Given the description of an element on the screen output the (x, y) to click on. 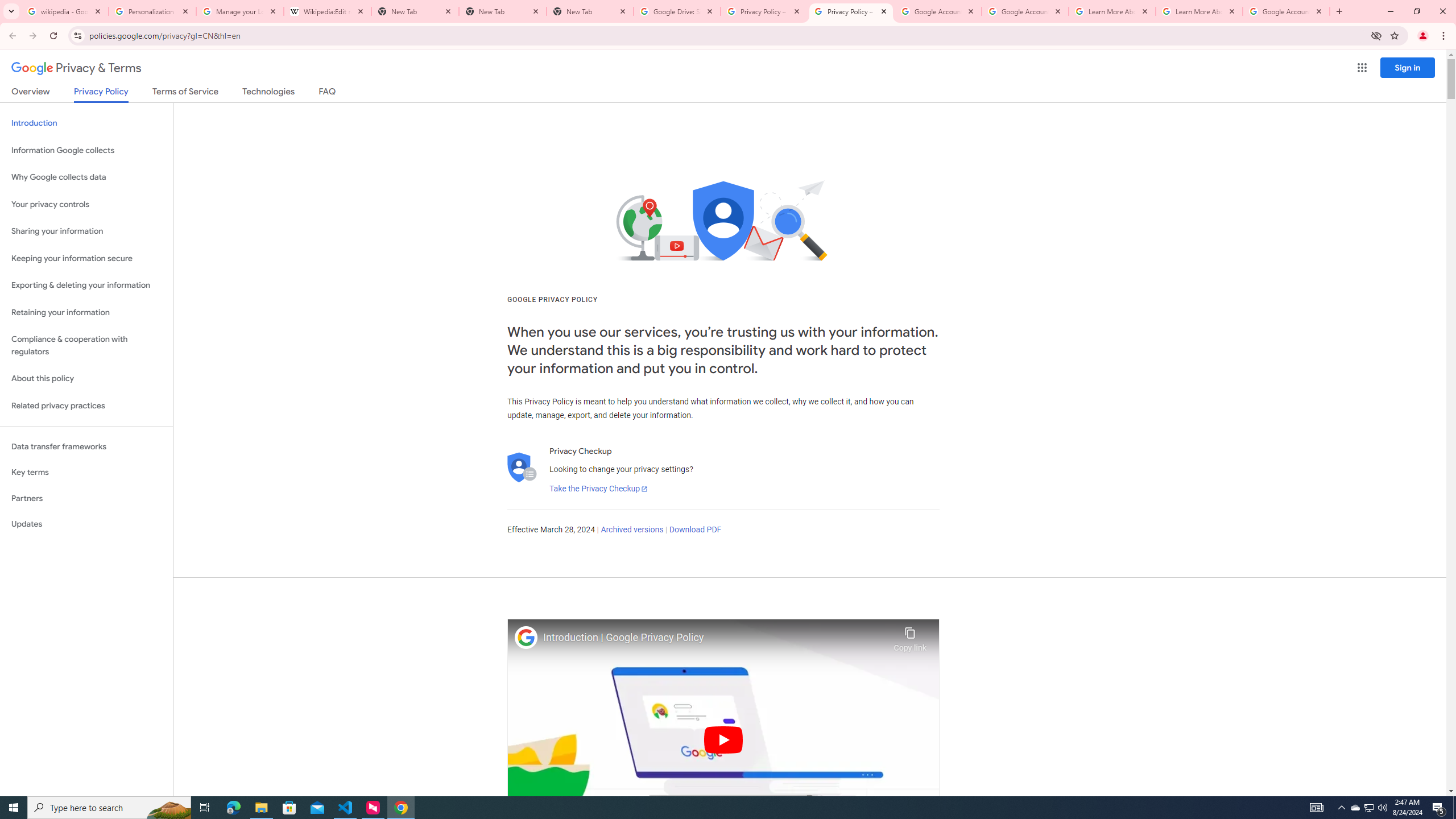
Take the Privacy Checkup (597, 488)
Google Account Help (1025, 11)
Google Account Help (938, 11)
